Given the description of an element on the screen output the (x, y) to click on. 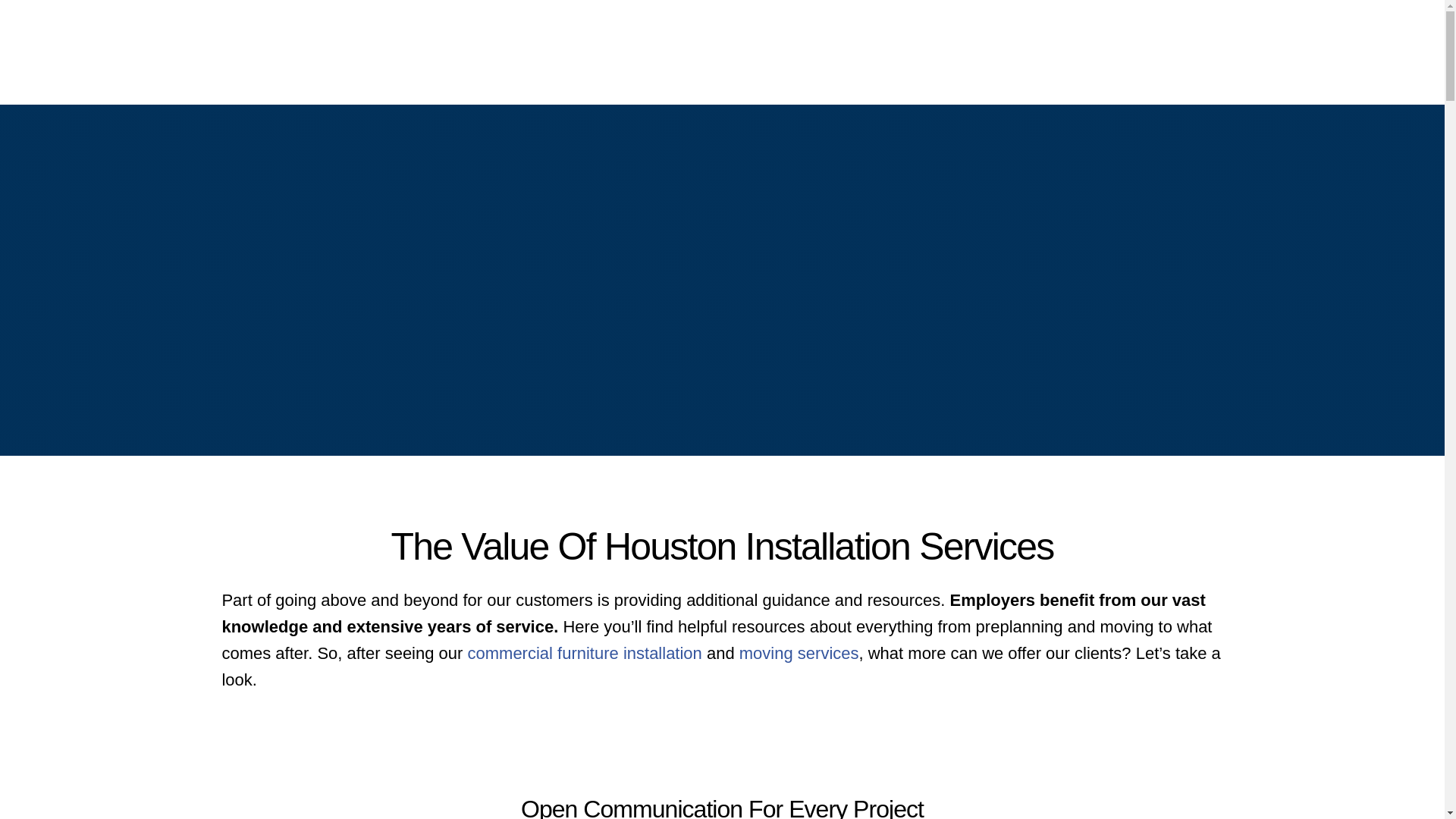
commercial furniture installation (584, 652)
moving services (799, 652)
